Given the description of an element on the screen output the (x, y) to click on. 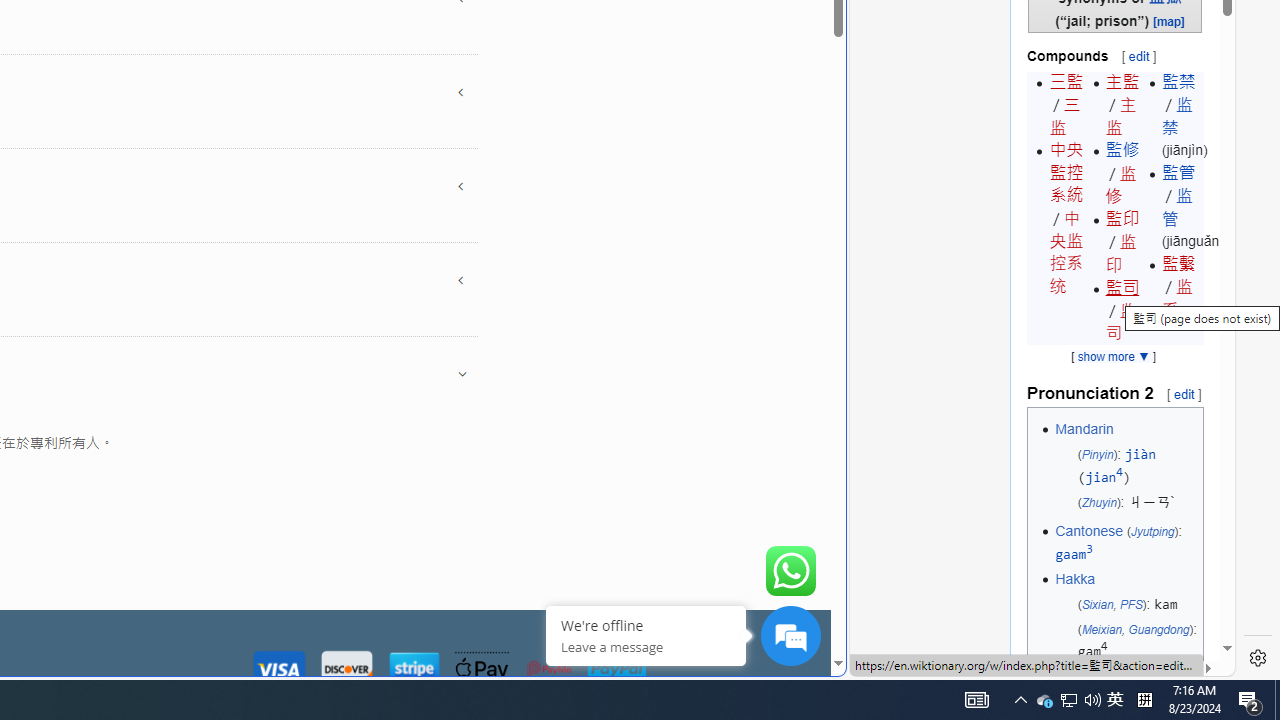
BUC (1149, 682)
Sixian (1097, 603)
MSN (687, 223)
Zhuyin (1099, 502)
Global web icon (888, 663)
